Given the description of an element on the screen output the (x, y) to click on. 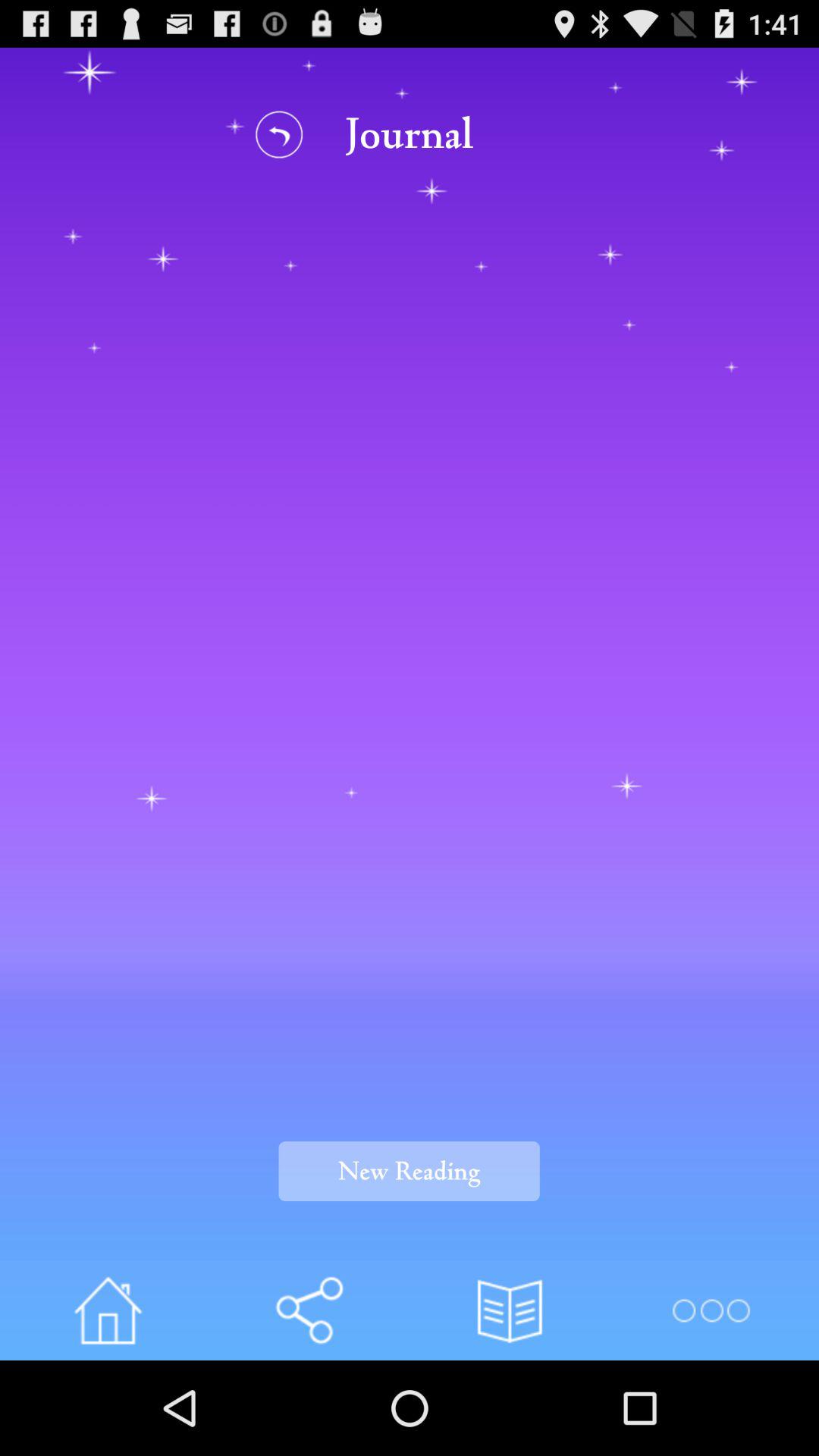
view settings or menu (710, 1310)
